Given the description of an element on the screen output the (x, y) to click on. 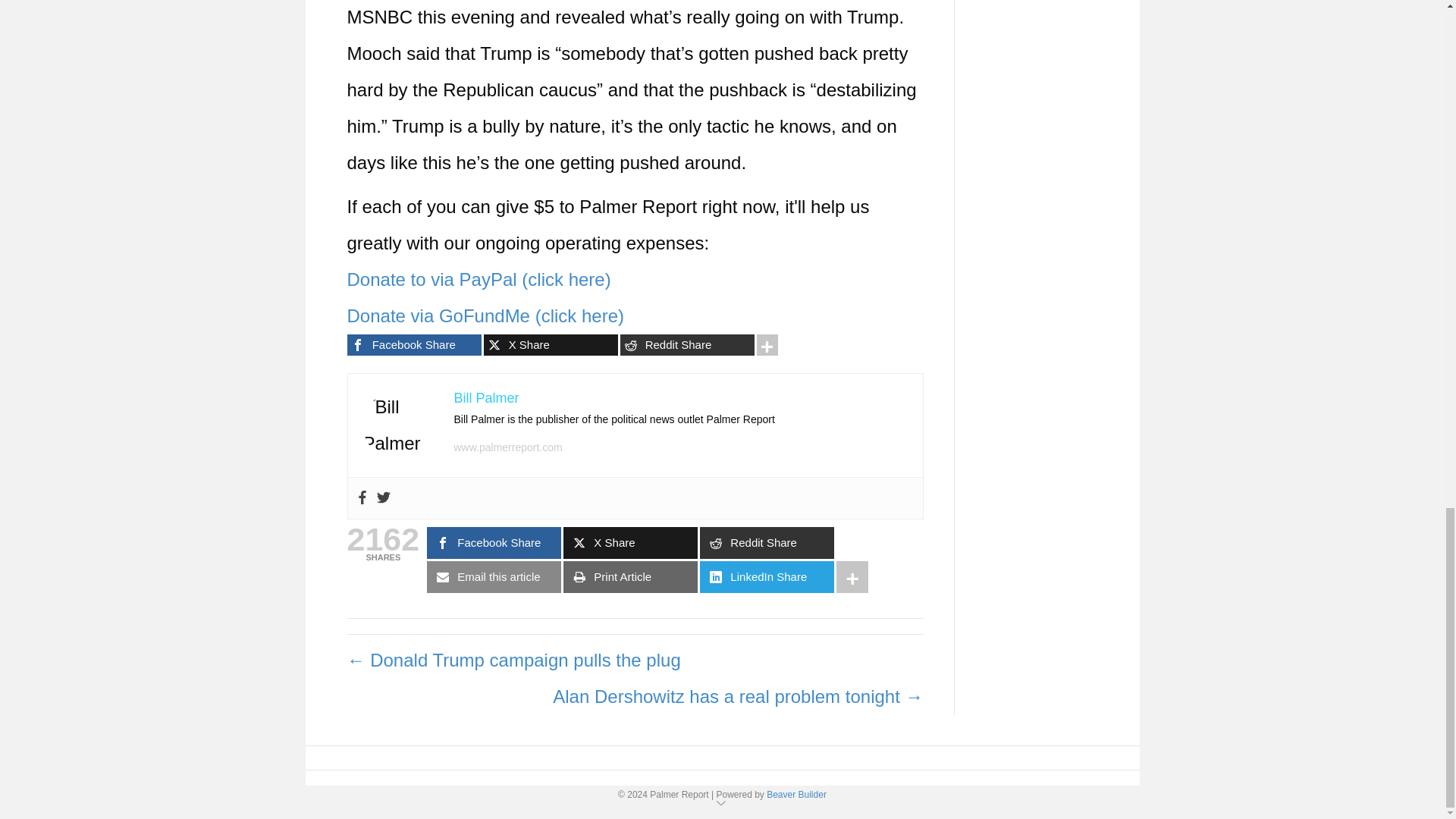
X Share (550, 344)
Reddit Share (687, 344)
Facebook Share (414, 344)
WordPress Page Builder Plugin (797, 794)
